Given the description of an element on the screen output the (x, y) to click on. 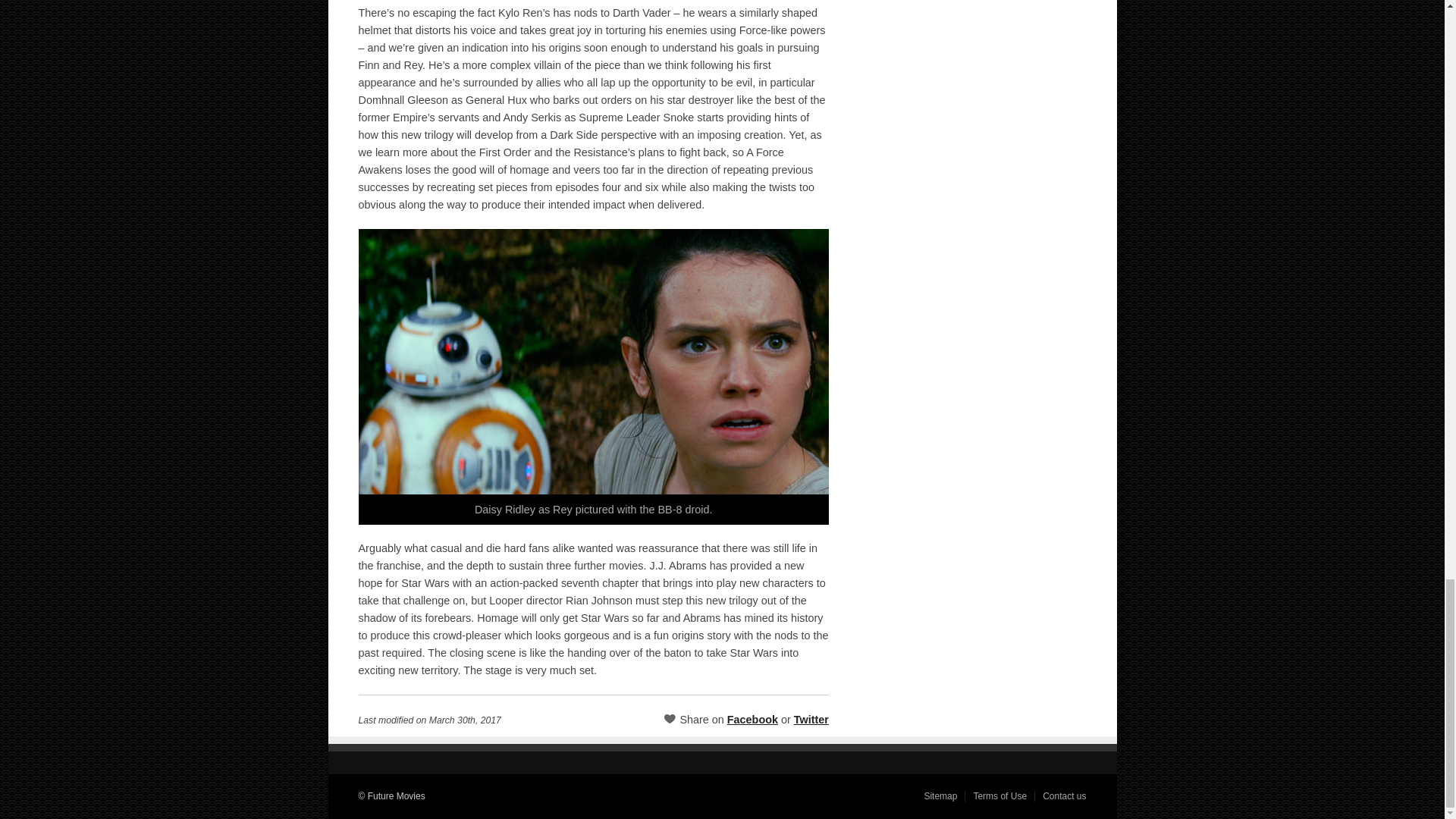
Facebook (751, 719)
Twitter (810, 719)
